Given the description of an element on the screen output the (x, y) to click on. 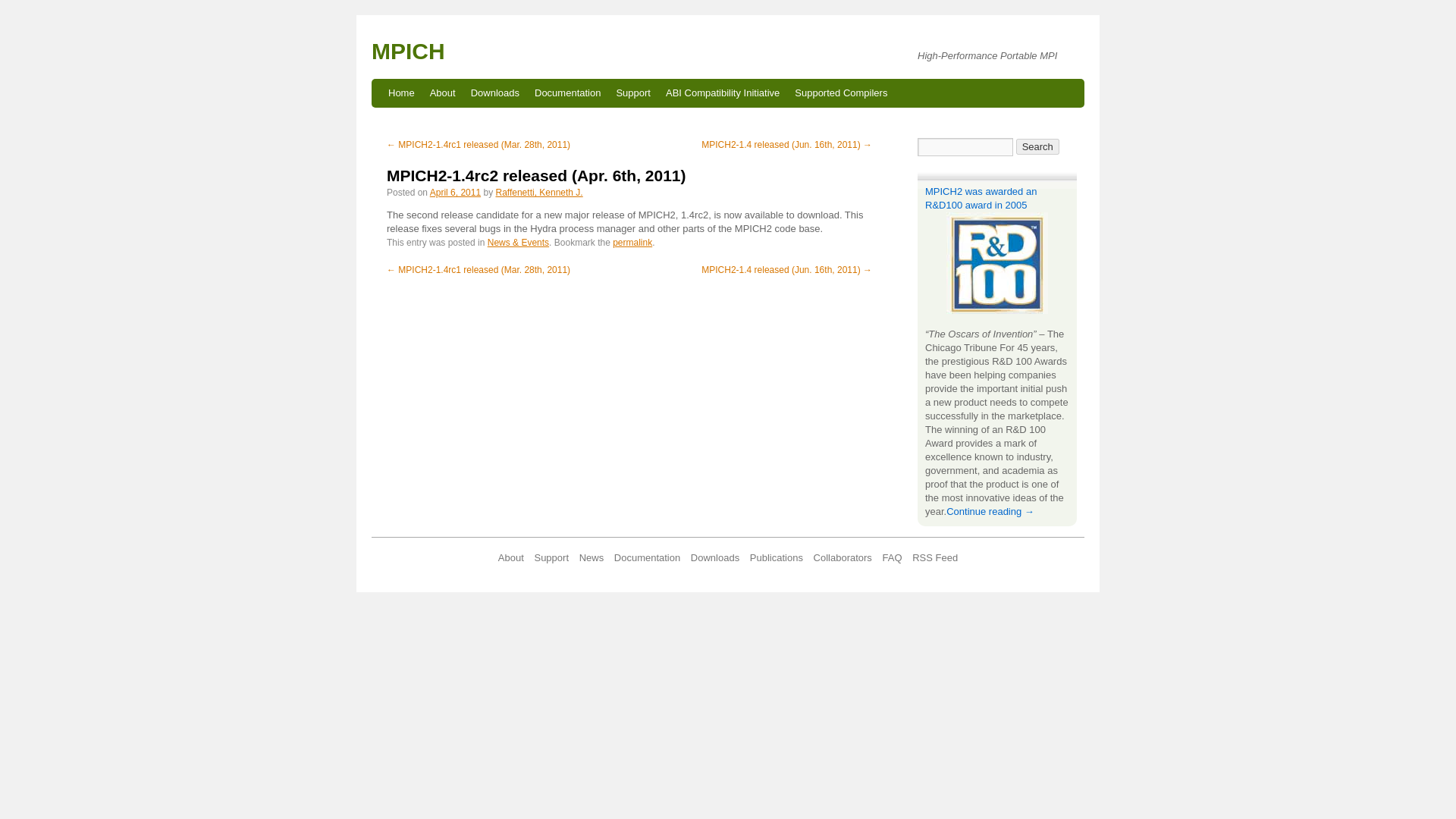
ABI Compatibility Initiative (722, 92)
Downloads (495, 92)
Search (1037, 146)
11:33 pm (454, 192)
View all posts by Raffenetti, Kenneth J. (538, 192)
Documentation (567, 92)
MPICH (408, 50)
April 6, 2011 (454, 192)
Supported Compilers (841, 92)
permalink (632, 242)
MPICH (408, 50)
Search (1037, 146)
About (442, 92)
Home (401, 92)
Raffenetti, Kenneth J. (538, 192)
